Given the description of an element on the screen output the (x, y) to click on. 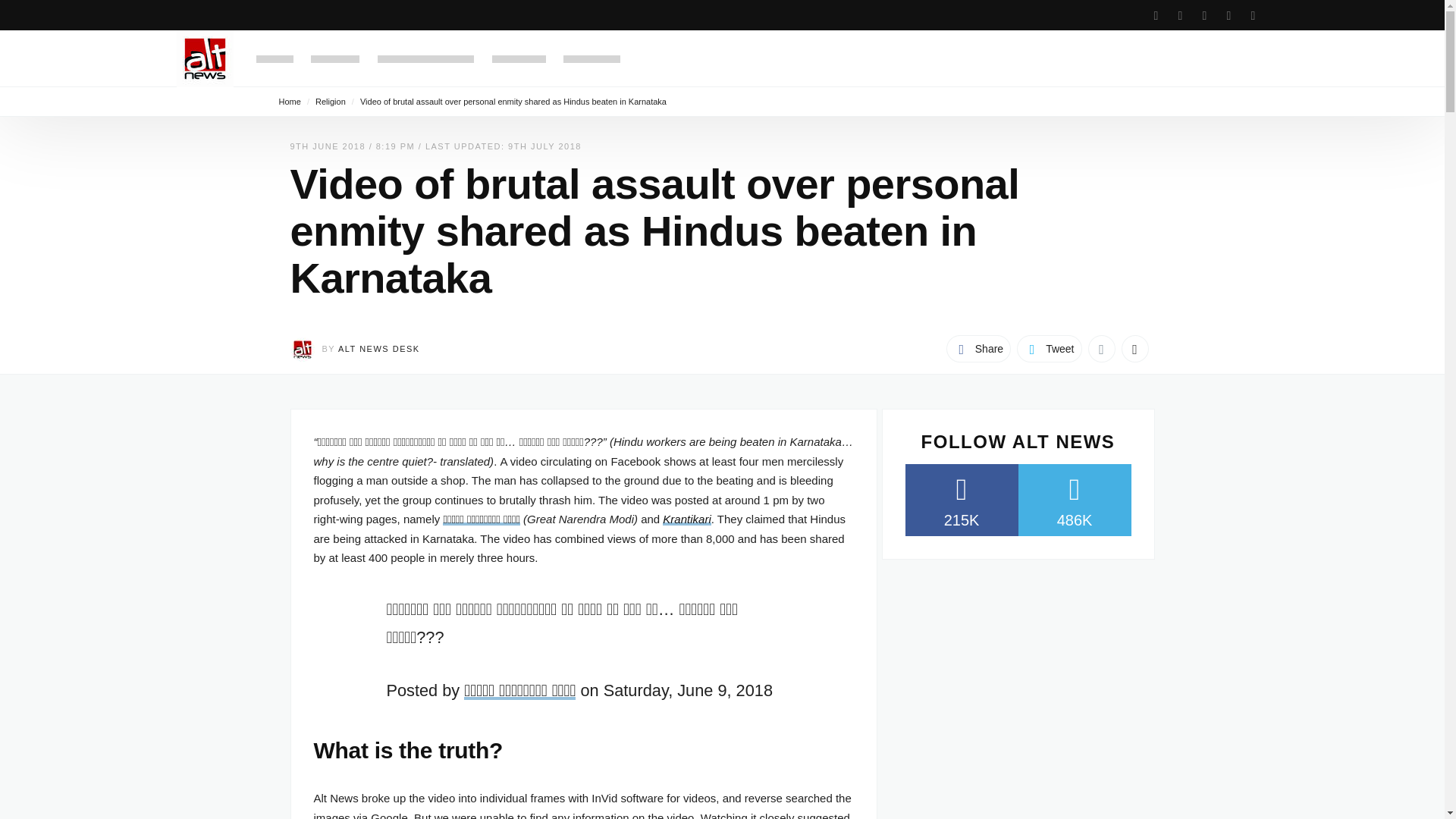
Share on Twitter (1048, 348)
Facebook (1155, 14)
YouTube (1228, 14)
Religion (330, 101)
Share on Facebook (978, 348)
RSS (1252, 14)
Tweet (1048, 348)
Share (978, 348)
ALT NEWS DESK (378, 347)
Twitter (1179, 14)
